Given the description of an element on the screen output the (x, y) to click on. 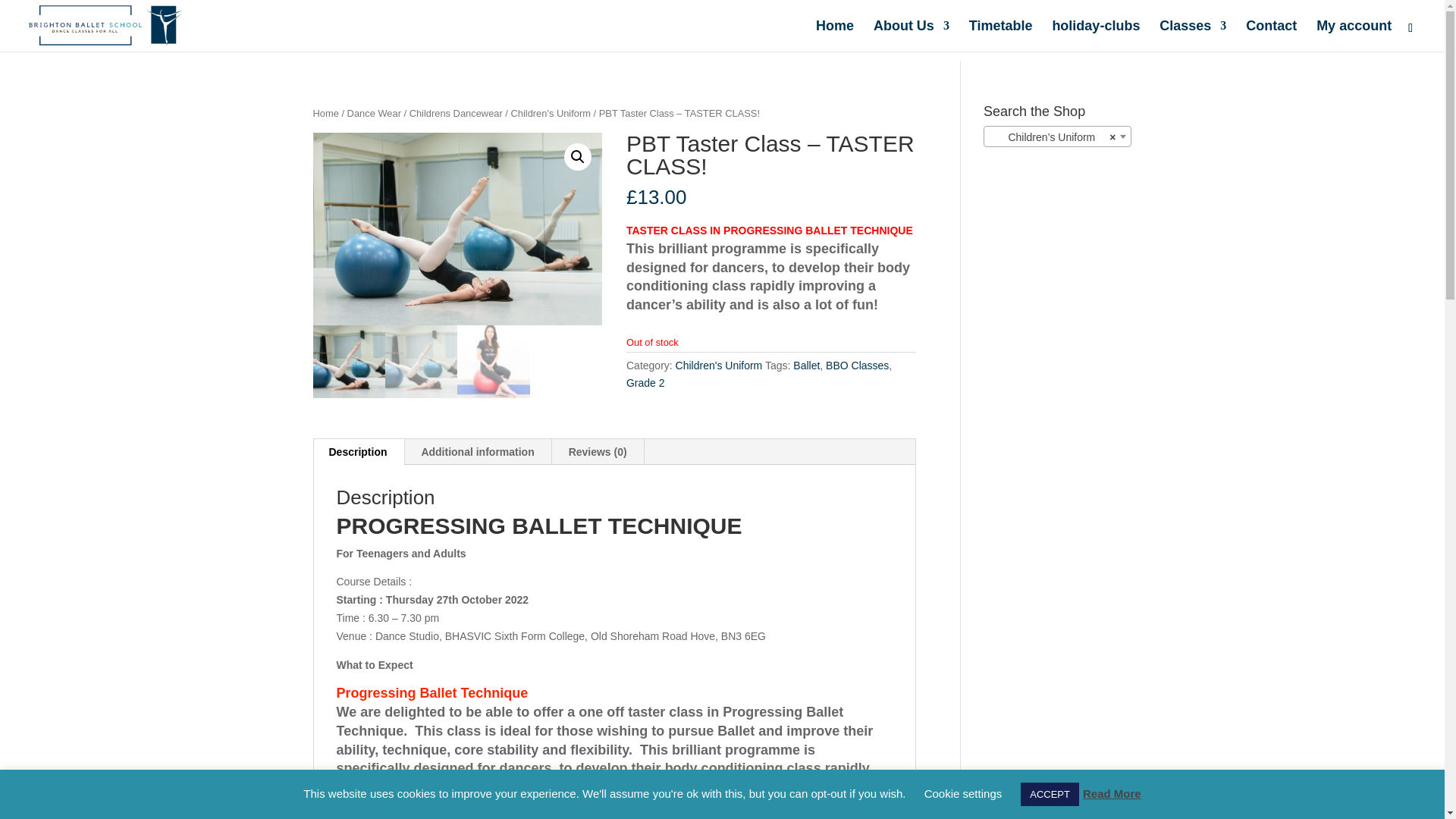
Home (834, 35)
Childrens Dancewear (455, 112)
Children's Uniform (718, 365)
Dance Wear (374, 112)
Description (358, 451)
BBO Classes (856, 365)
Classes (1191, 35)
About Us (911, 35)
Home (325, 112)
Additional information (477, 451)
